Given the description of an element on the screen output the (x, y) to click on. 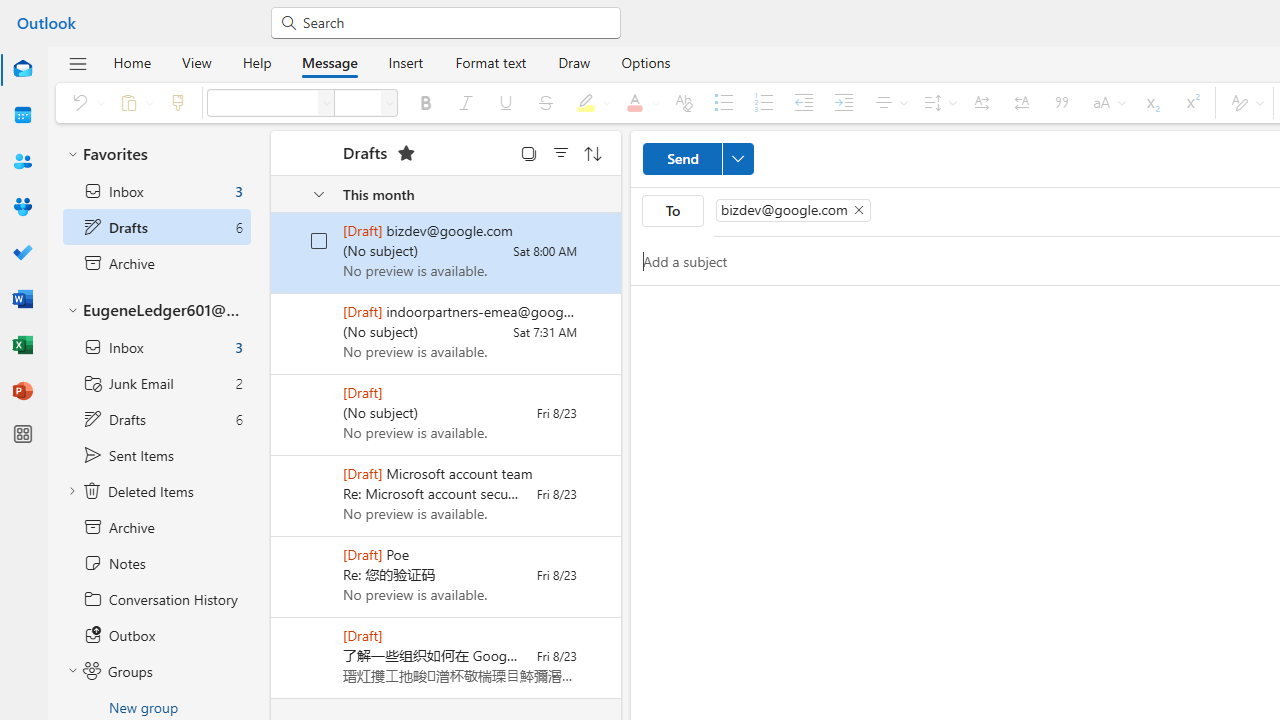
Search (454, 21)
Deleted Items (156, 491)
Junk Email 2 items (156, 383)
